Given the description of an element on the screen output the (x, y) to click on. 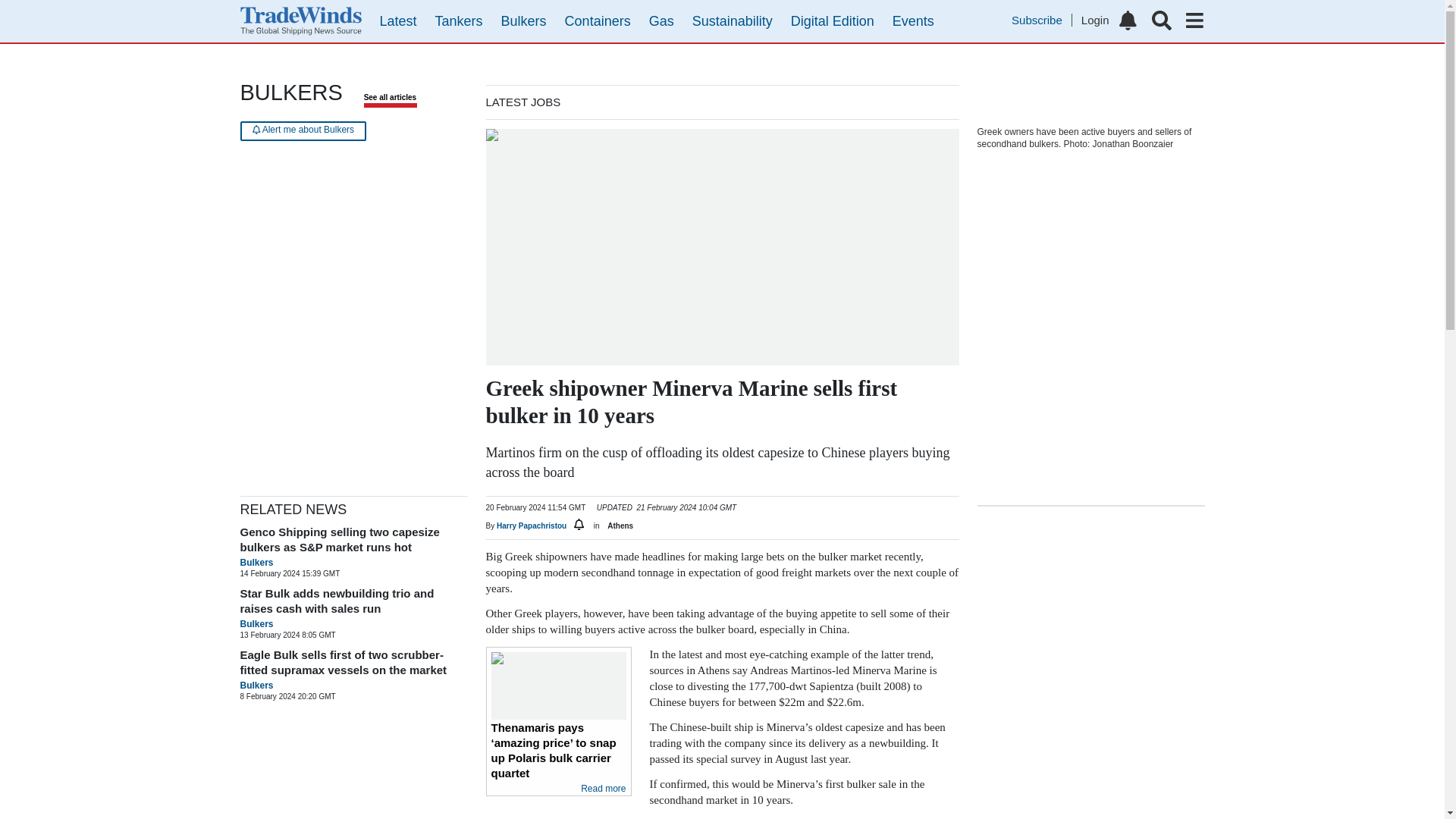
Digital Edition (832, 20)
Subscribe (1041, 19)
Events (913, 20)
Gas (661, 20)
Bulkers (523, 20)
Login (1095, 19)
Tankers (459, 20)
Containers (597, 20)
Latest (397, 20)
Sustainability (733, 20)
